Given the description of an element on the screen output the (x, y) to click on. 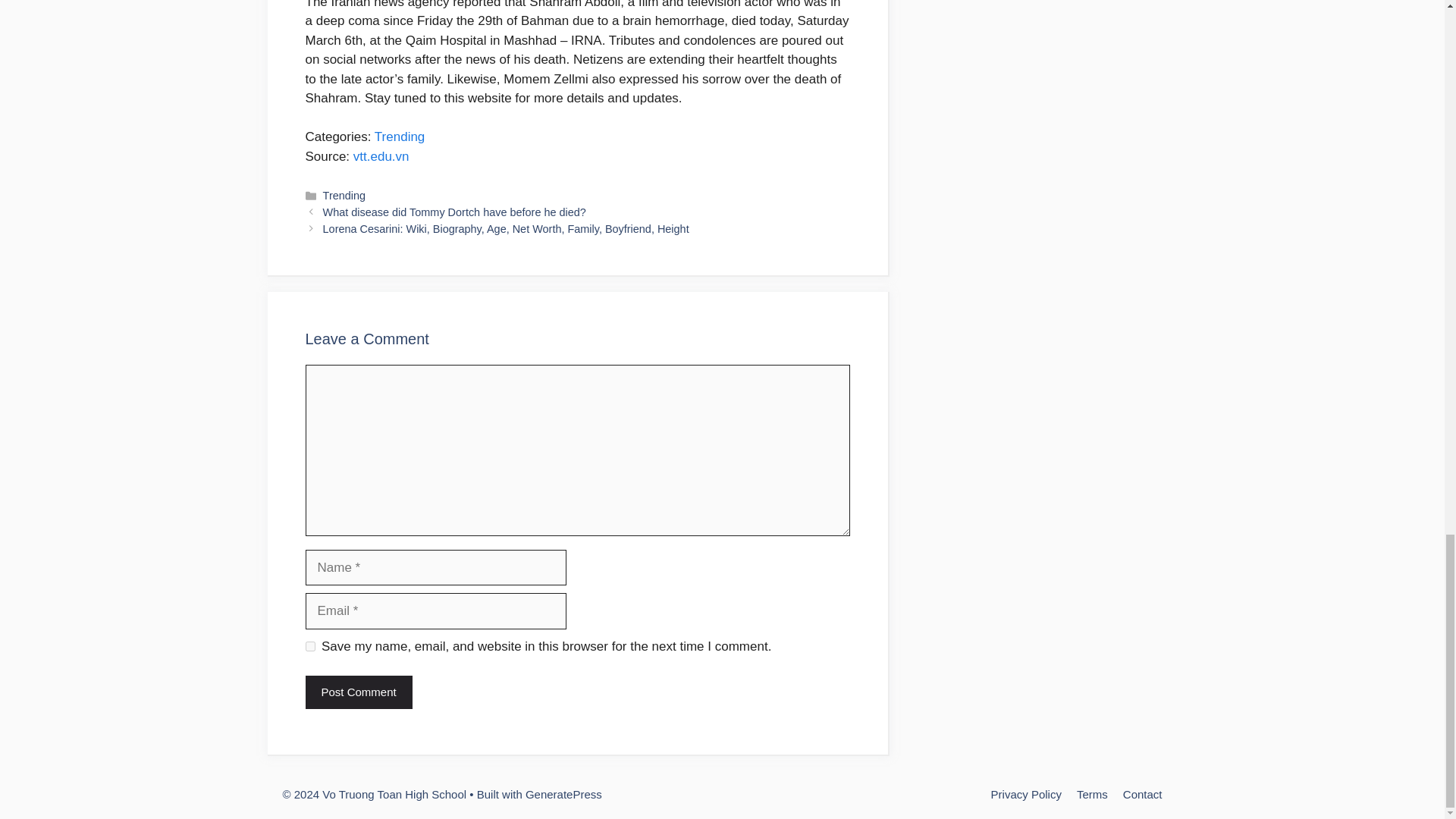
Trending (344, 195)
Privacy Policy (1026, 793)
vtt.edu.vn (381, 156)
Post Comment (358, 692)
Post Comment (358, 692)
Terms (1092, 793)
Contact (1141, 793)
yes (309, 646)
Trending (399, 136)
GeneratePress (563, 793)
What disease did Tommy Dortch have before he died? (454, 212)
